Given the description of an element on the screen output the (x, y) to click on. 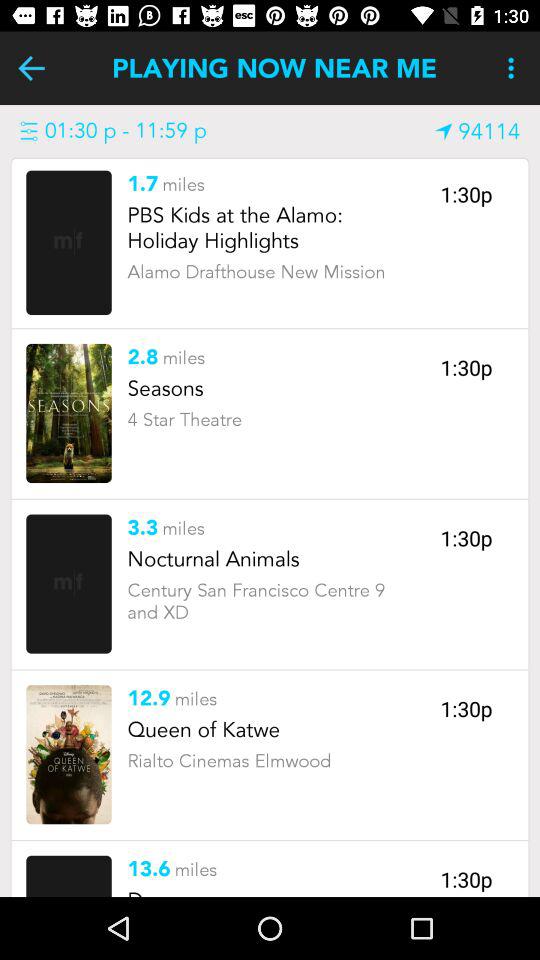
go to playing (31, 67)
